Given the description of an element on the screen output the (x, y) to click on. 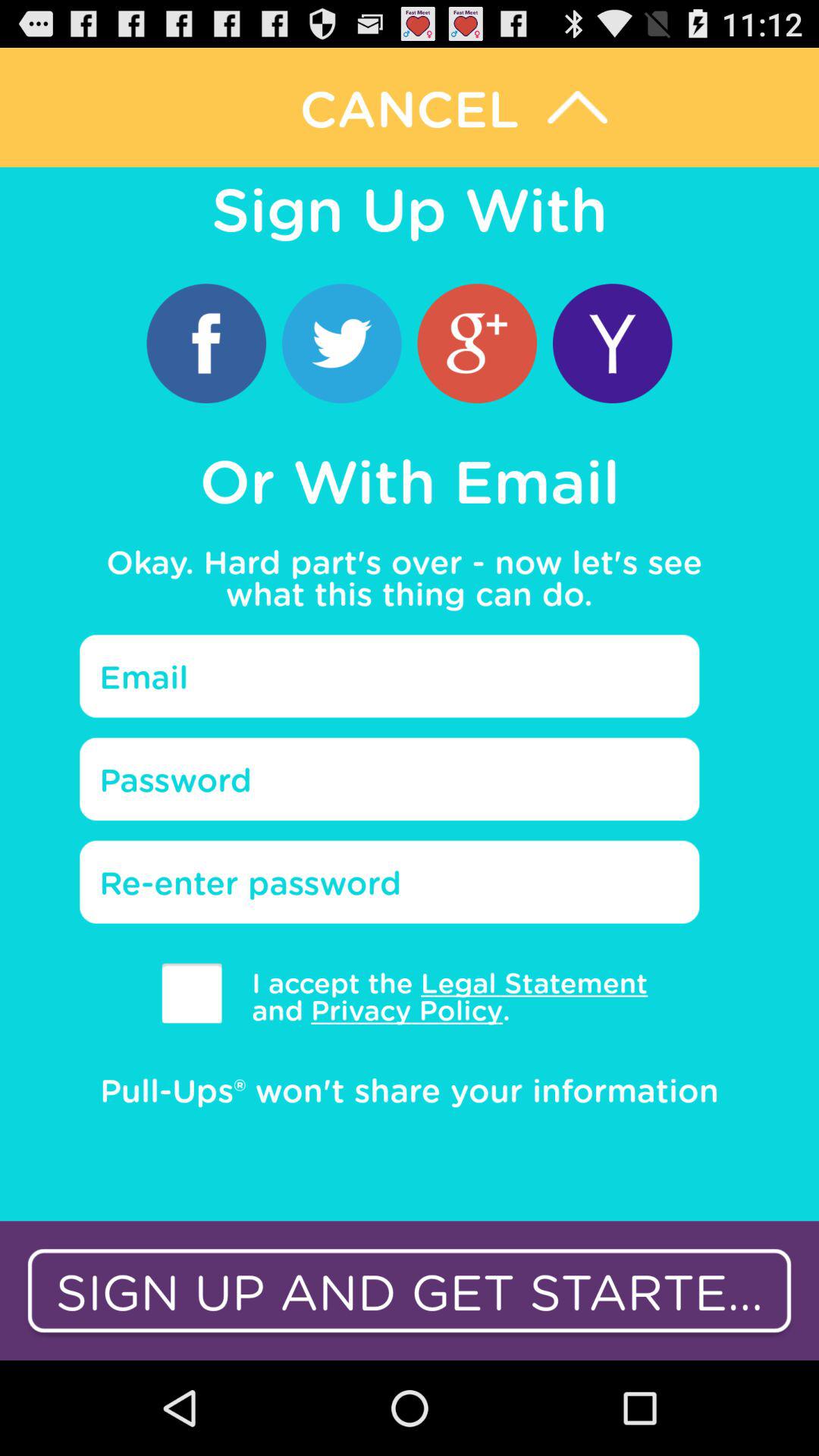
turn off item below the sign up with (612, 343)
